Given the description of an element on the screen output the (x, y) to click on. 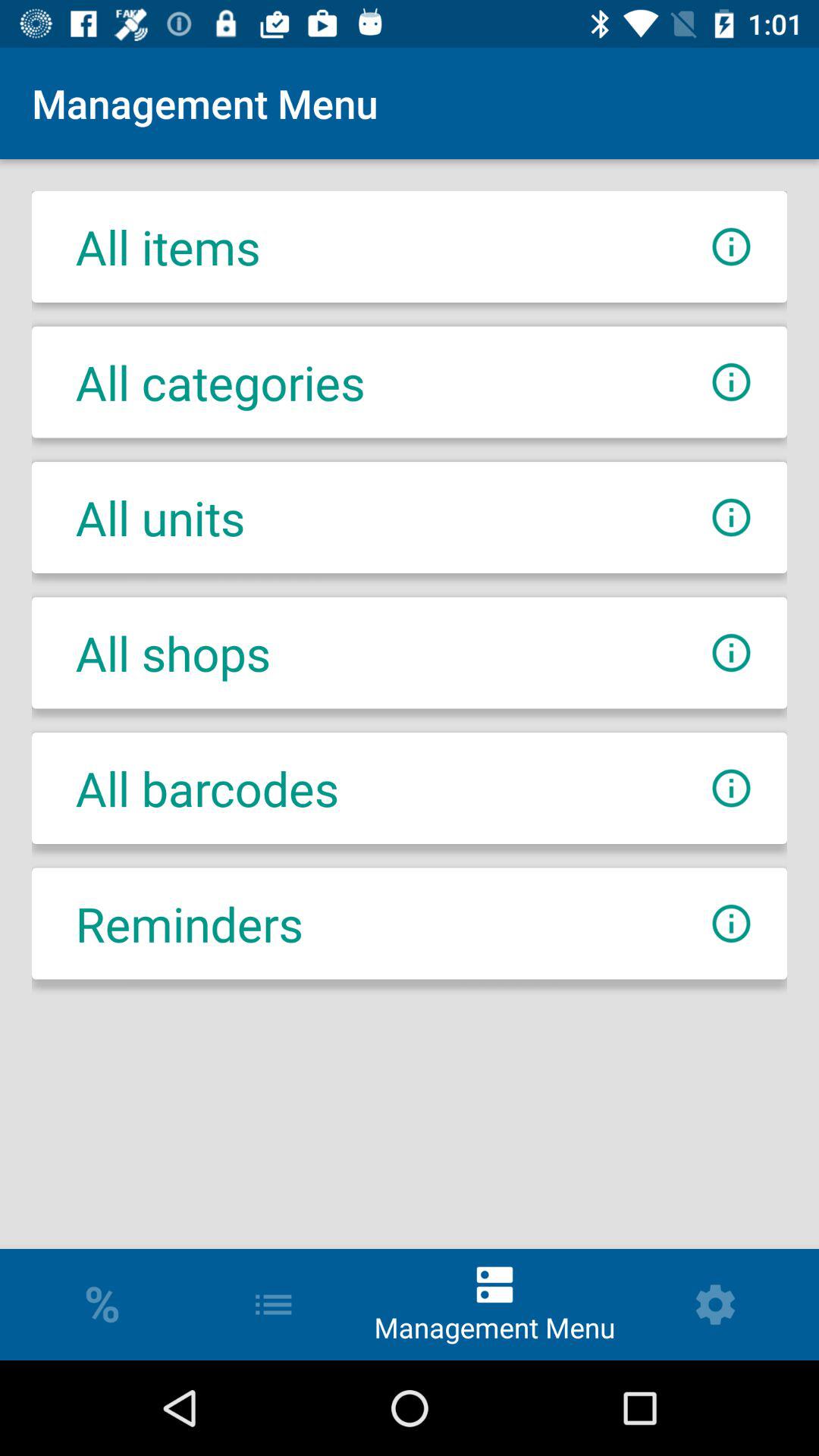
get additional information (731, 517)
